Given the description of an element on the screen output the (x, y) to click on. 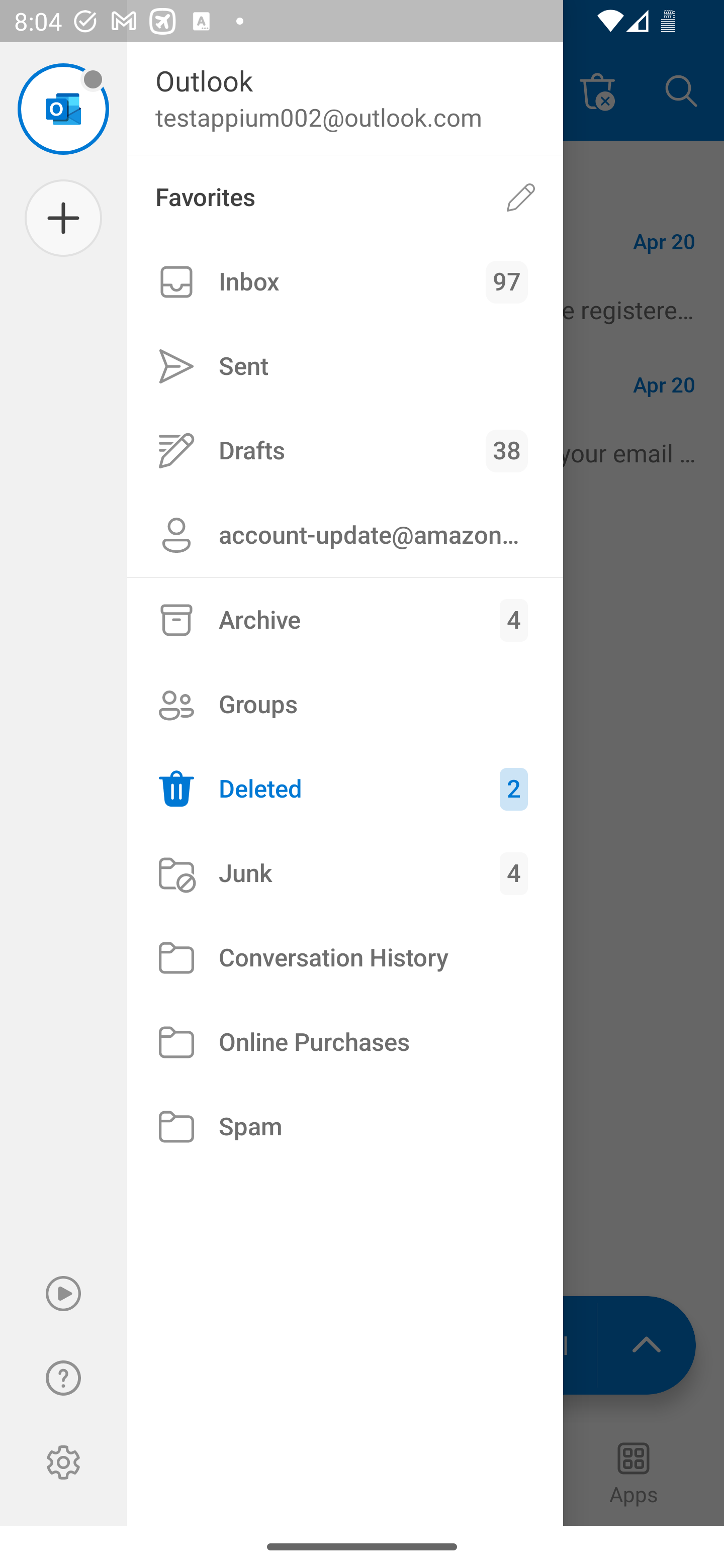
Edit favorites (520, 197)
Add account (63, 217)
Inbox Inbox, 97 unread emails (345, 281)
Sent (345, 366)
Drafts Drafts, 38 unread emails (345, 450)
account-update@amazon.com (345, 534)
Archive Archive, 2 of 8, level 1, 4 unread emails (345, 619)
Groups Groups, 3 of 8, level 1 (345, 703)
Junk Junk, 5 of 8, level 1, 4 unread emails (345, 873)
Online Purchases Online Purchases, 7 of 8, level 1 (345, 1042)
Spam Spam, 8 of 8, level 1 (345, 1127)
Play My Emails (62, 1293)
Help (62, 1377)
Settings (62, 1462)
